Given the description of an element on the screen output the (x, y) to click on. 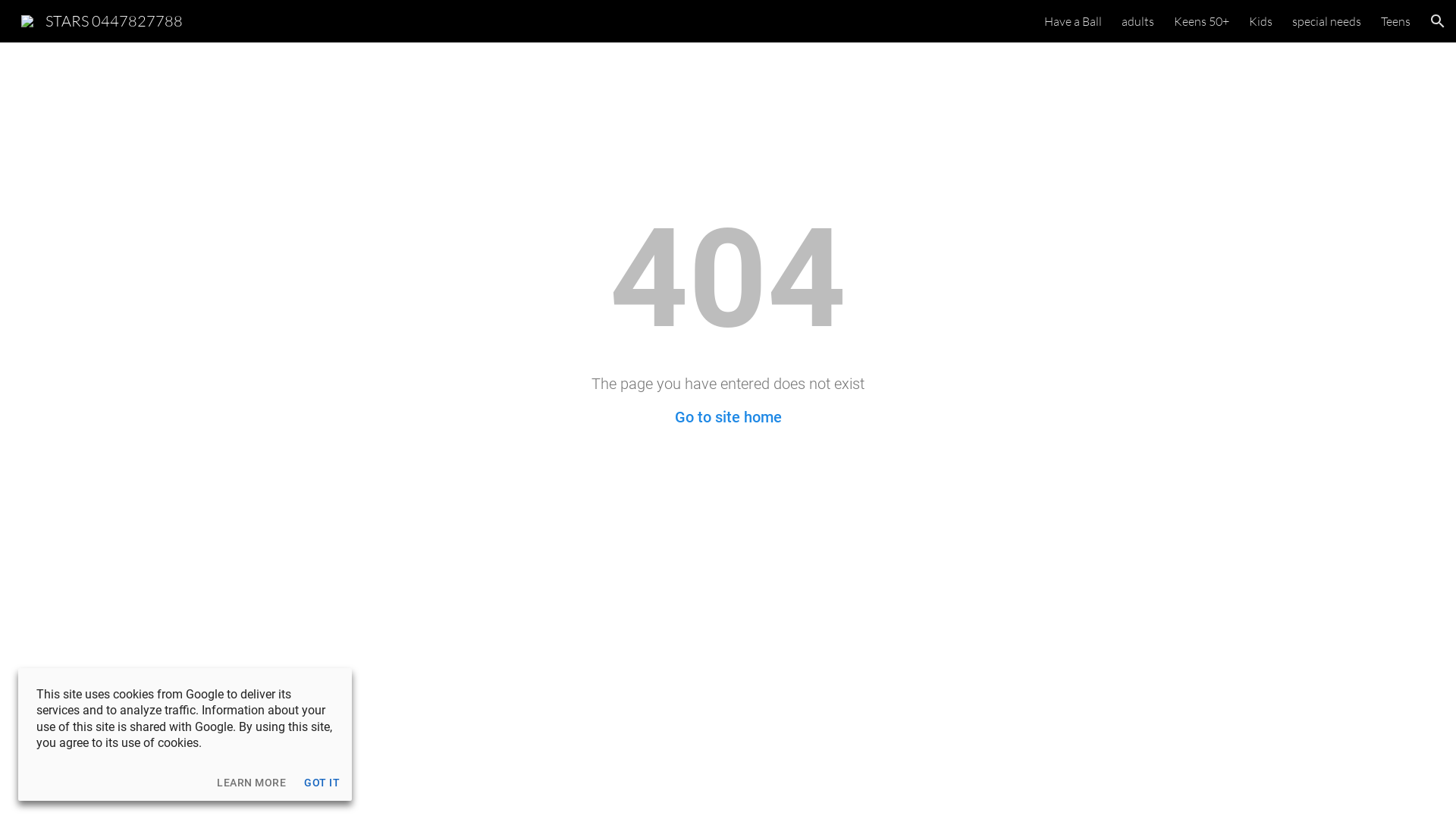
special needs Element type: text (1326, 20)
Teens Element type: text (1395, 20)
STARS 0447827788 Element type: text (101, 18)
adults Element type: text (1137, 20)
Go to site home Element type: text (727, 416)
Have a Ball Element type: text (1072, 20)
Kids Element type: text (1260, 20)
LEARN MORE Element type: text (250, 781)
Keens 50+ Element type: text (1201, 20)
